Given the description of an element on the screen output the (x, y) to click on. 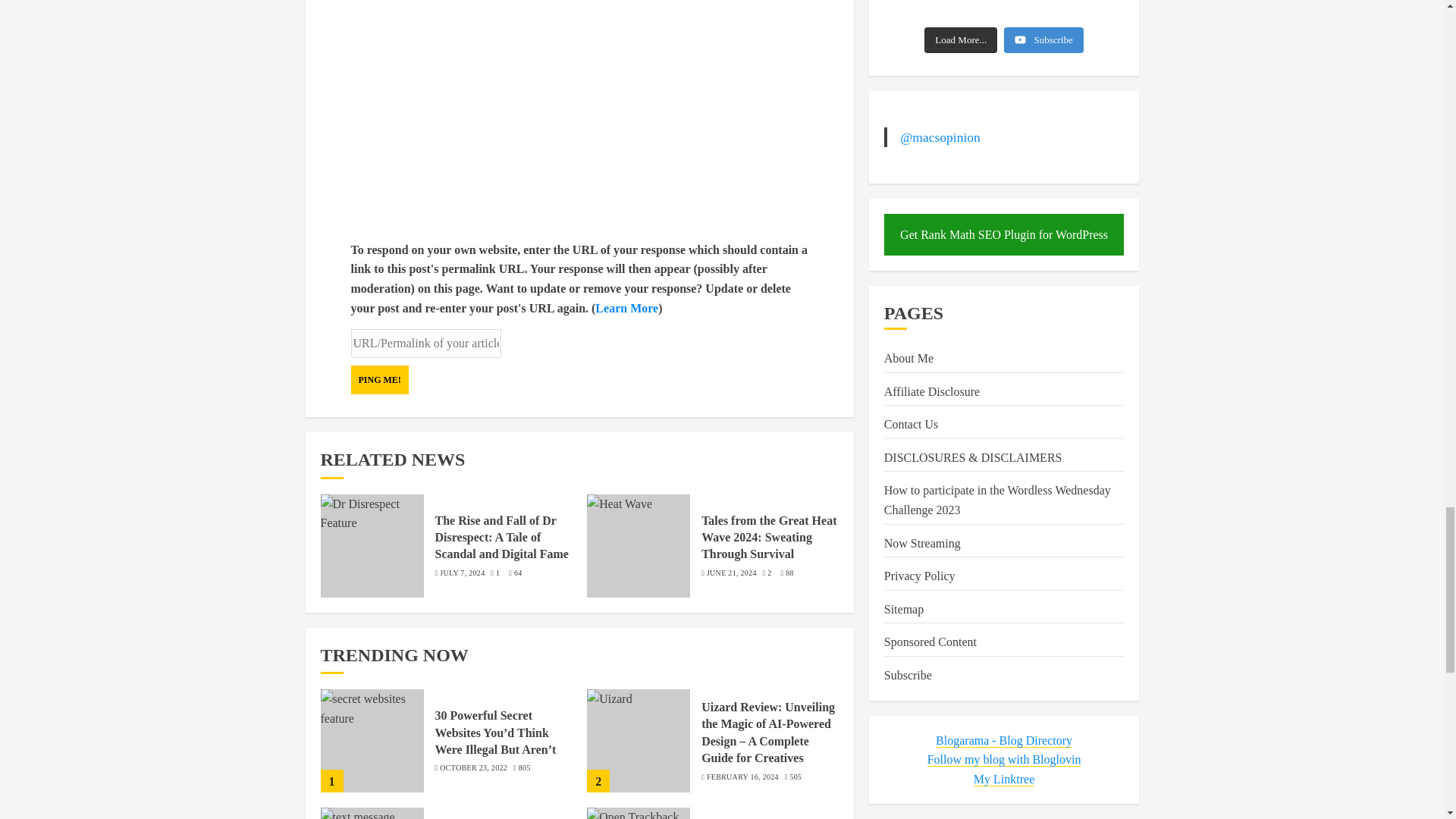
Ping me! (378, 379)
